Given the description of an element on the screen output the (x, y) to click on. 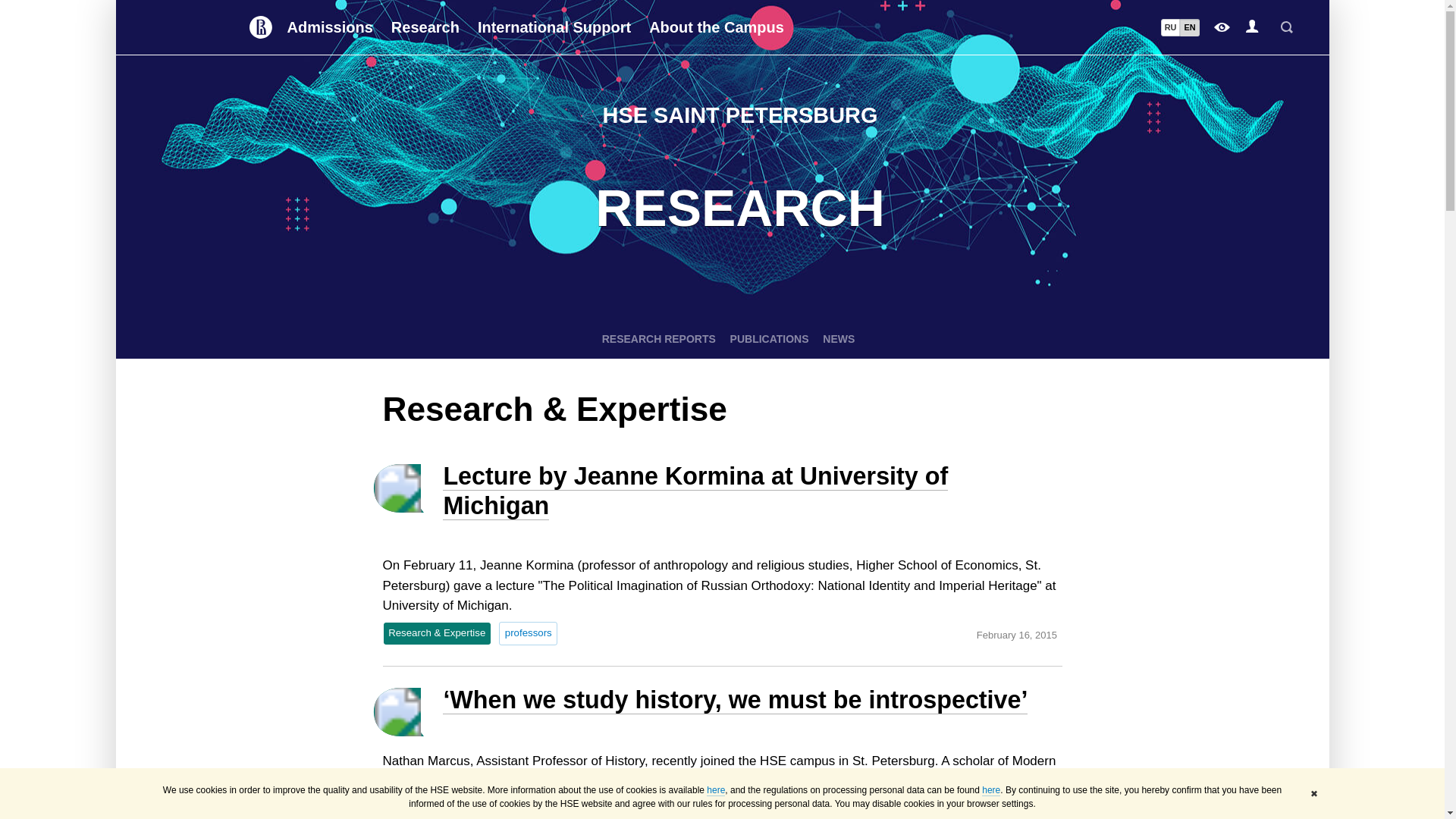
here (715, 790)
About the Campus (716, 27)
Search (1286, 27)
Admissions (329, 27)
here (990, 790)
Research (425, 27)
Lecture by Jeanne Kormina at University of Michigan (694, 491)
International Support (553, 27)
professors (528, 632)
